Given the description of an element on the screen output the (x, y) to click on. 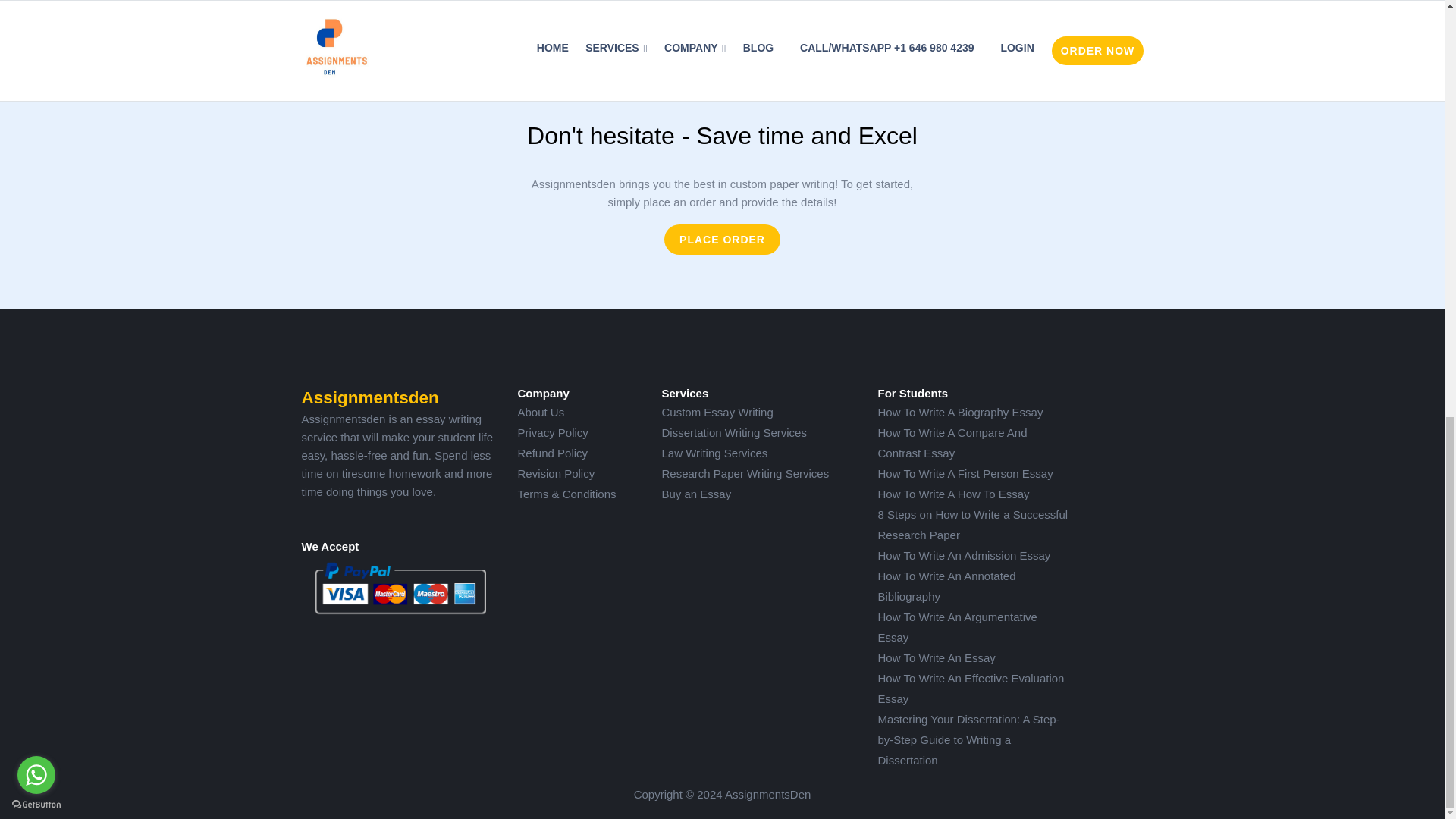
Research Paper Writing Services (744, 472)
About Us (540, 411)
PLACE ORDER (721, 239)
Revision Policy (555, 472)
Law Writing Services (714, 452)
Refund Policy (552, 452)
Privacy Policy (552, 431)
Custom Essay Writing (717, 411)
Assignmentsden (370, 397)
Dissertation Writing Services (733, 431)
